Given the description of an element on the screen output the (x, y) to click on. 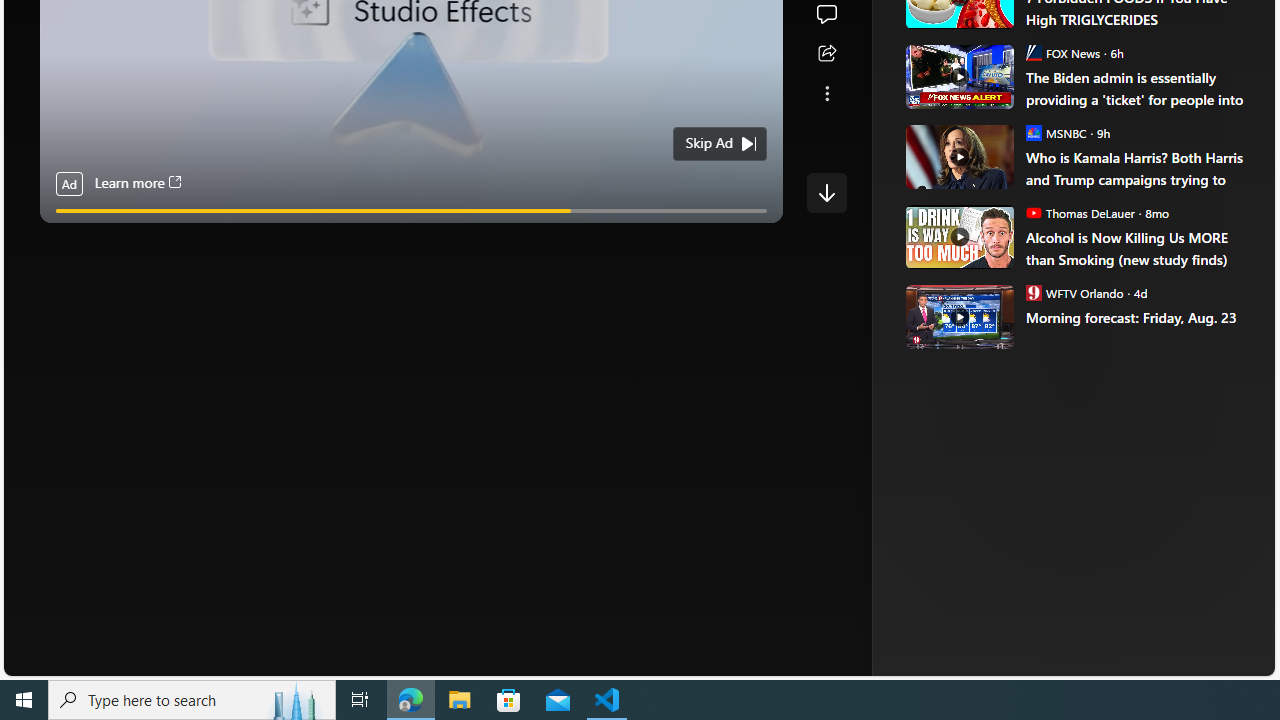
MSNBC (1033, 132)
WFTV Orlando WFTV Orlando (1074, 291)
video progress bar (411, 210)
Morning forecast: Friday, Aug. 23 (958, 316)
Skip Ad (708, 143)
ABC News (974, 12)
Class: control (826, 192)
Summer Sale! Up to -55% (1084, 284)
Pause (68, 233)
